Given the description of an element on the screen output the (x, y) to click on. 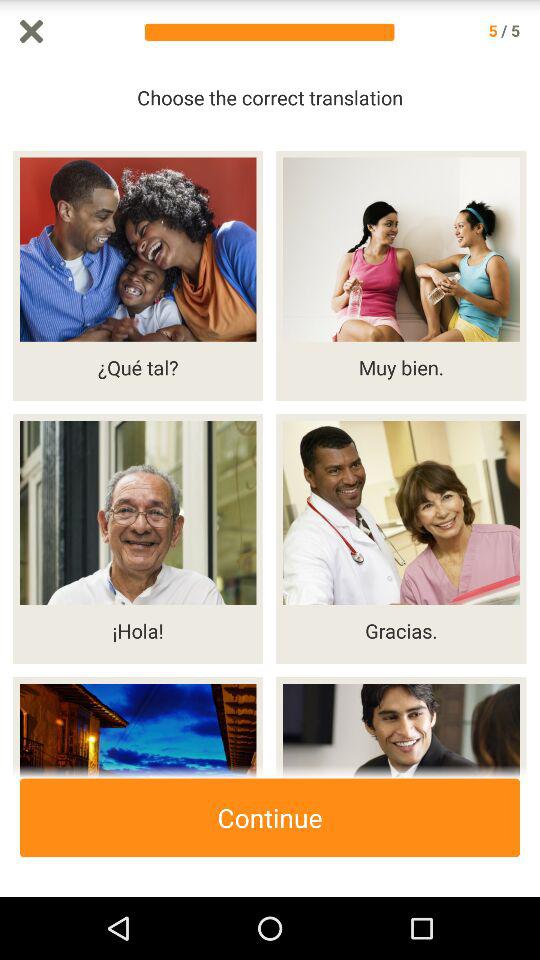
click on first image in the second row (138, 538)
